Given the description of an element on the screen output the (x, y) to click on. 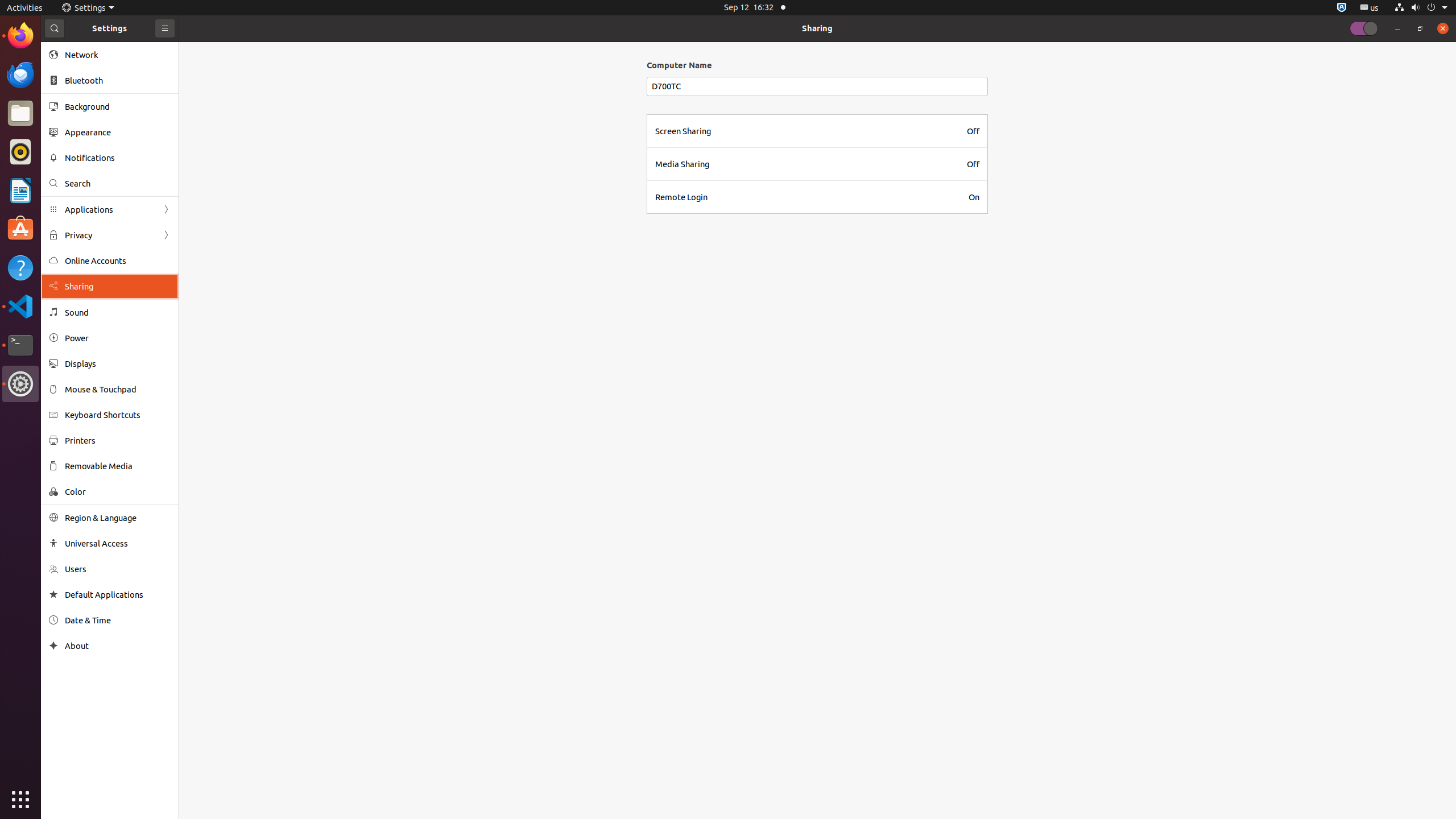
Primary Menu Element type: toggle-button (164, 28)
Privacy Element type: label (109, 235)
Remote Login Element type: label (681, 196)
Users Element type: label (117, 568)
